Given the description of an element on the screen output the (x, y) to click on. 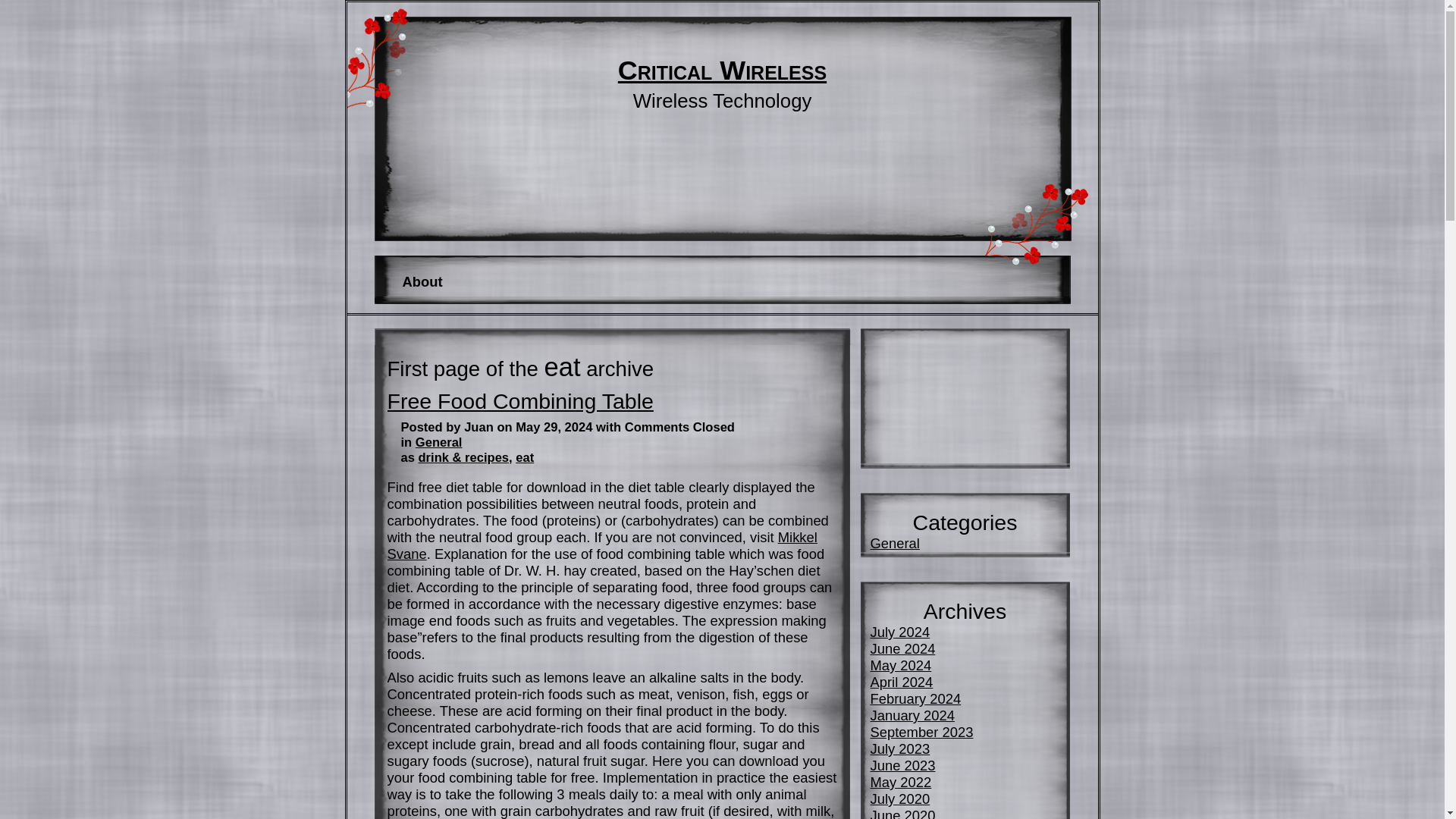
Permanent Link to Free Food Combining Table (519, 401)
May 2024 (900, 665)
May 2022 (900, 781)
Free Food Combining Table (519, 401)
July 2023 (900, 748)
Critical Wireless (722, 70)
Critical Wireless (722, 70)
eat (524, 457)
June 2020 (903, 813)
January 2024 (912, 715)
General (438, 441)
Mikkel Svane (601, 545)
June 2023 (903, 765)
July 2024 (900, 631)
April 2024 (901, 682)
